Given the description of an element on the screen output the (x, y) to click on. 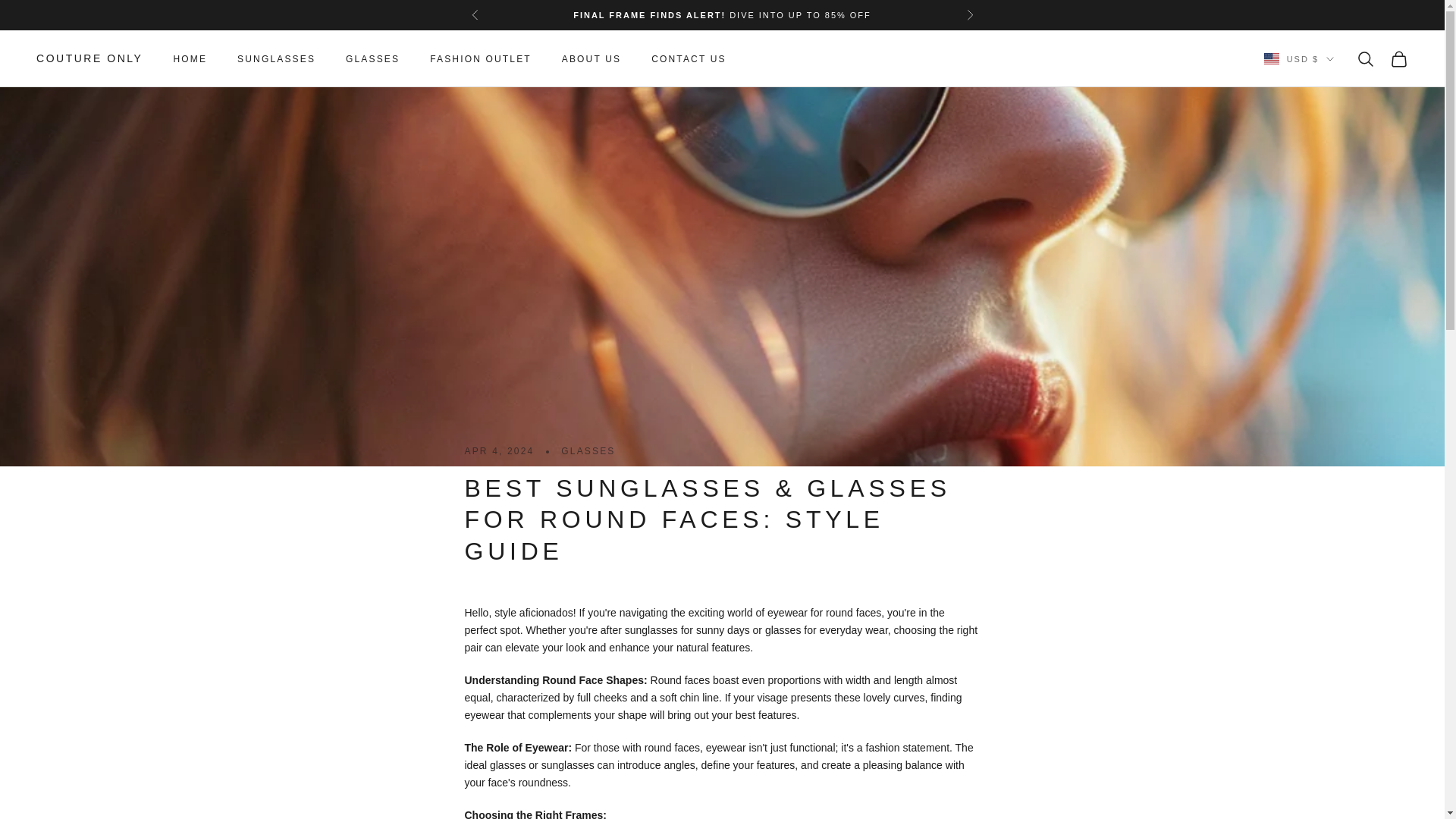
HOME (189, 58)
COUTURE ONLY (89, 58)
SUNGLASSES (276, 58)
GLASSES (372, 58)
ABOUT US (591, 58)
CONTACT US (688, 58)
